Given the description of an element on the screen output the (x, y) to click on. 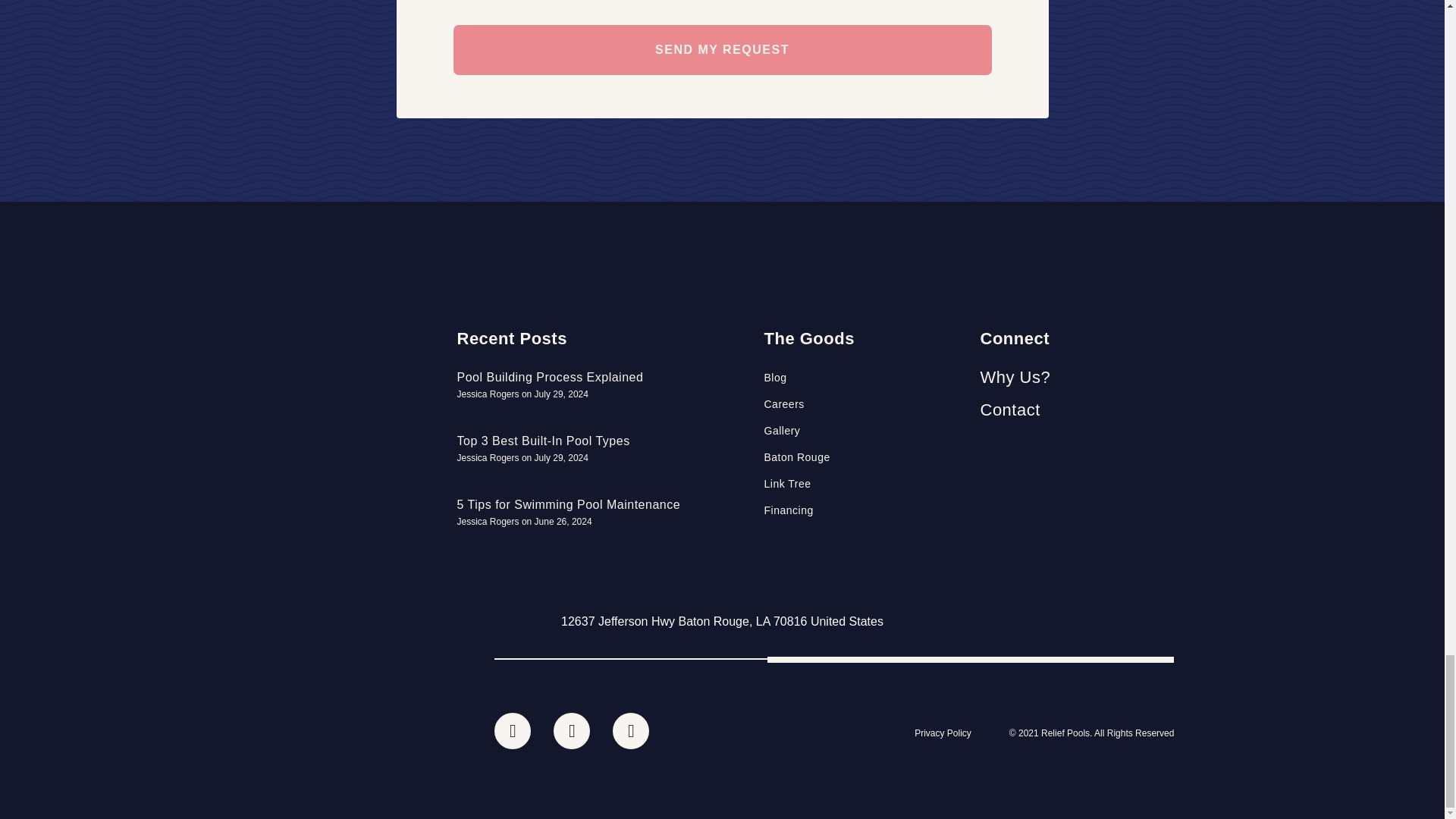
Gallery (864, 430)
Financing (864, 509)
SEND MY REQUEST (721, 50)
Link Tree (864, 483)
5 Tips for Swimming Pool Maintenance (568, 504)
Baton Rouge (864, 457)
Top 3 Best Built-In Pool Types (542, 440)
Blog (864, 377)
Pool Building Process Explained (550, 377)
Careers (864, 403)
